Given the description of an element on the screen output the (x, y) to click on. 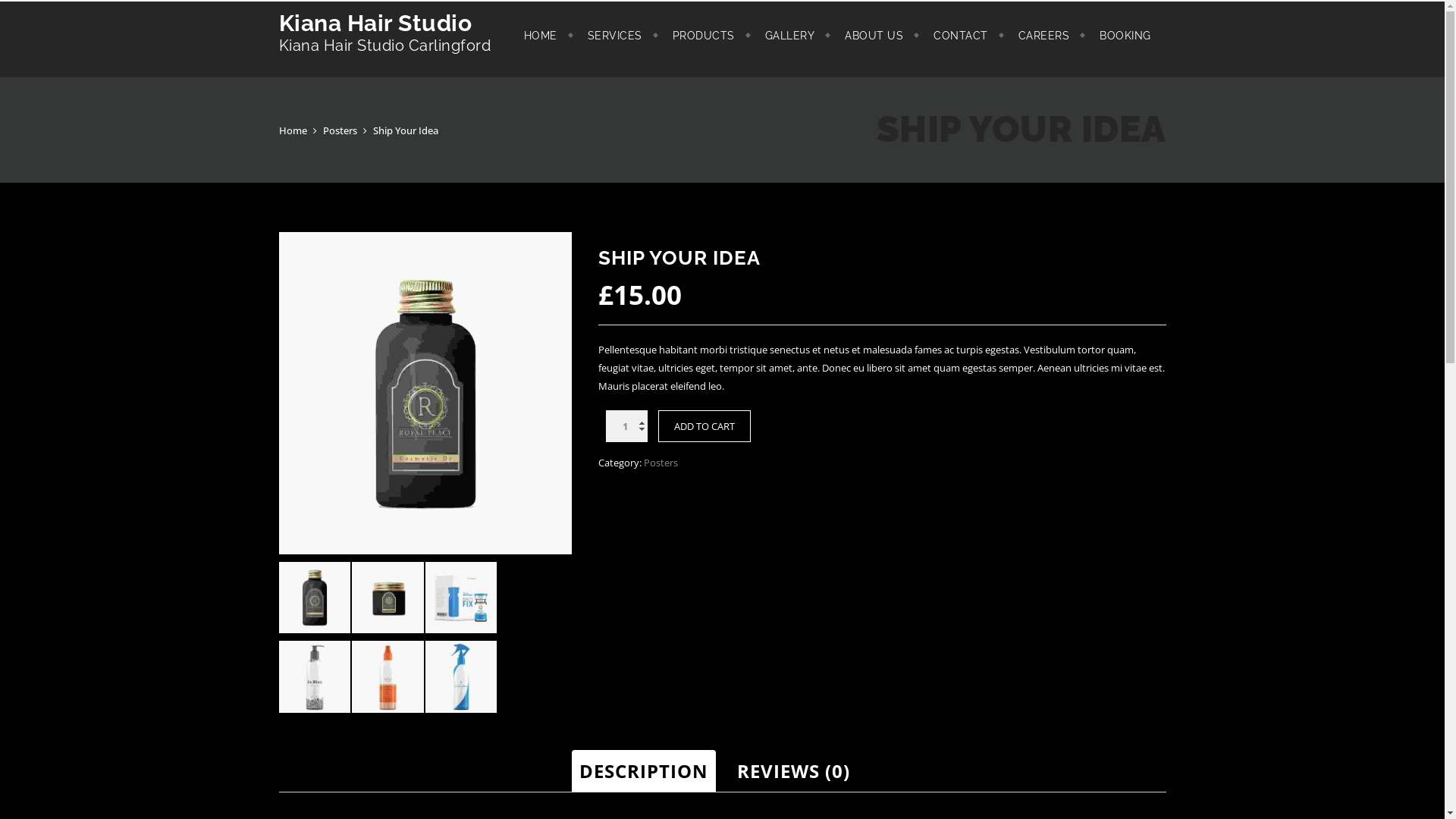
CONTACT Element type: text (960, 35)
ABOUT US Element type: text (873, 35)
REVIEWS (0) Element type: text (793, 770)
DESCRIPTION Element type: text (643, 770)
GALLERY Element type: text (789, 35)
CAREERS Element type: text (1043, 35)
Kiana Hair Studio Element type: text (385, 22)
BOOKING Element type: text (1125, 35)
Posters Element type: text (660, 462)
HOME Element type: text (539, 35)
Posters Element type: text (340, 130)
7 Element type: hover (425, 393)
Ship Your Idea Element type: text (405, 130)
Home Element type: text (293, 130)
PRODUCTS Element type: text (702, 35)
ADD TO CART Element type: text (704, 426)
SERVICES Element type: text (613, 35)
